Given the description of an element on the screen output the (x, y) to click on. 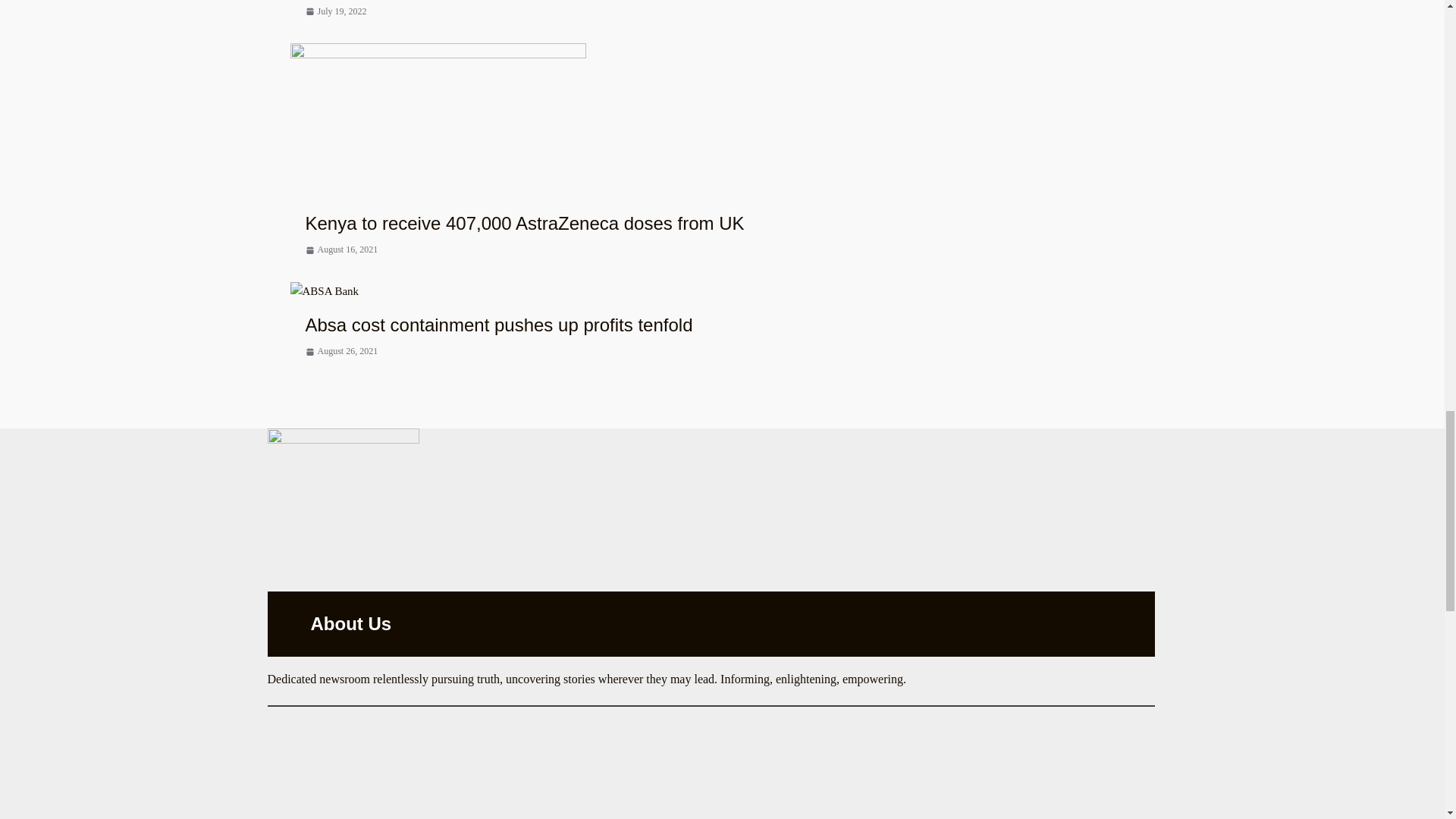
July 19, 2022 (335, 11)
Absa cost containment pushes up profits tenfold (323, 291)
1:41 PM (340, 249)
Absa cost containment pushes up profits tenfold (498, 324)
Kenya to receive 407,000 AstraZeneca doses from UK (437, 51)
4:51 PM (340, 350)
Kenya to receive 407,000 AstraZeneca doses from UK (524, 222)
12:47 PM (335, 11)
